Given the description of an element on the screen output the (x, y) to click on. 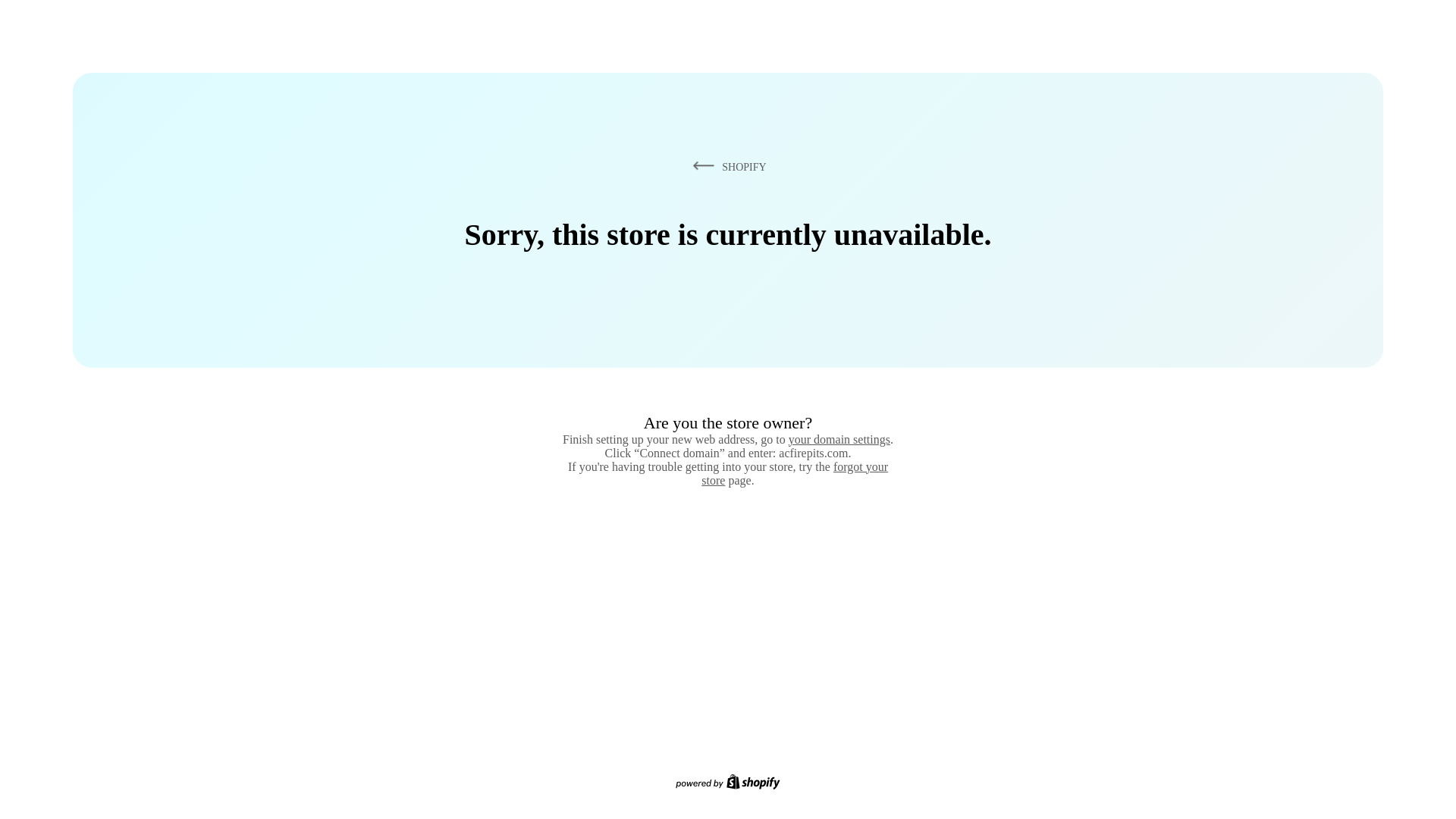
forgot your store (794, 473)
SHOPIFY (726, 166)
your domain settings (839, 439)
